Given the description of an element on the screen output the (x, y) to click on. 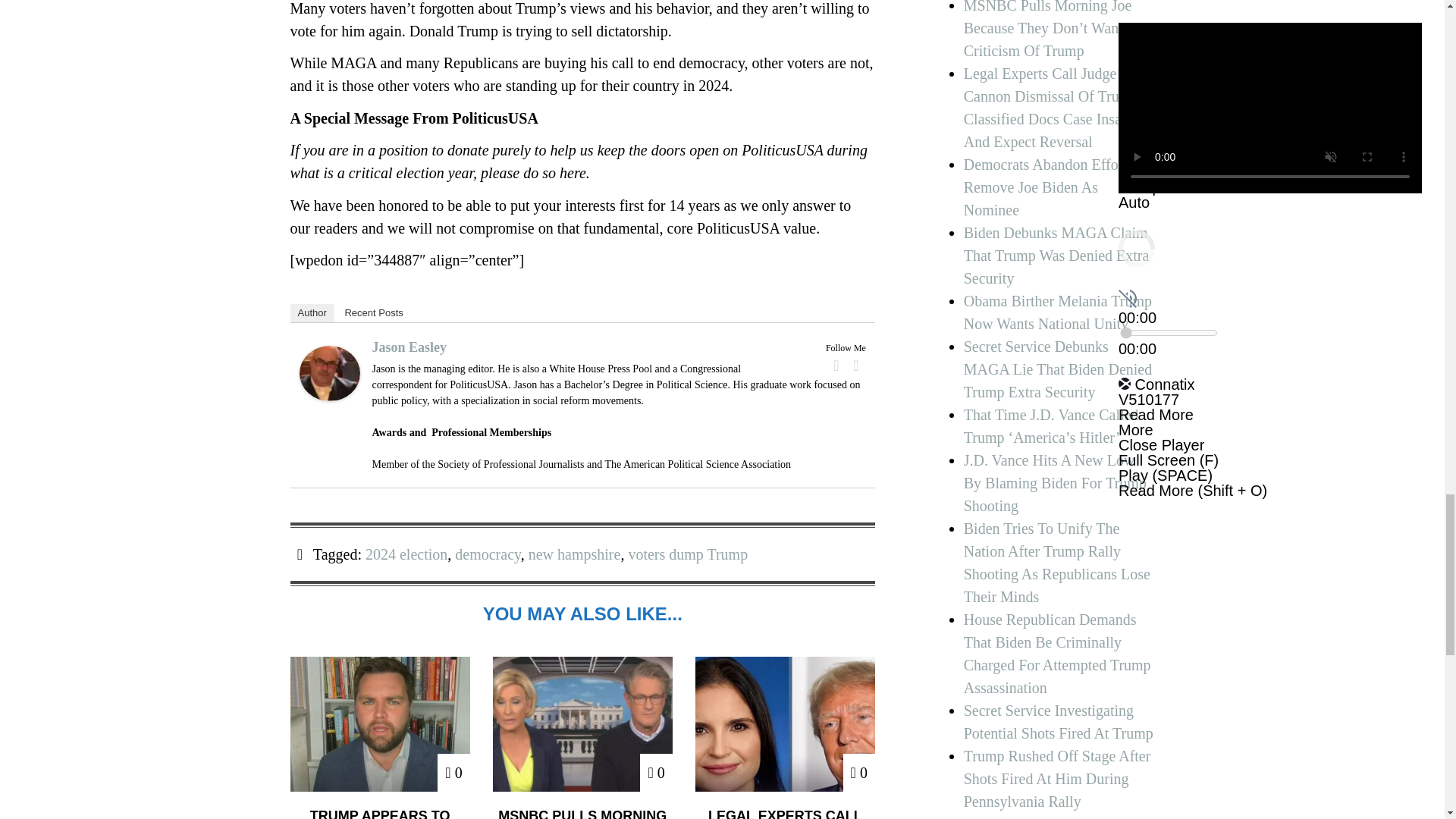
Author (311, 312)
Jason Easley (328, 373)
Recent Posts (373, 312)
